Given the description of an element on the screen output the (x, y) to click on. 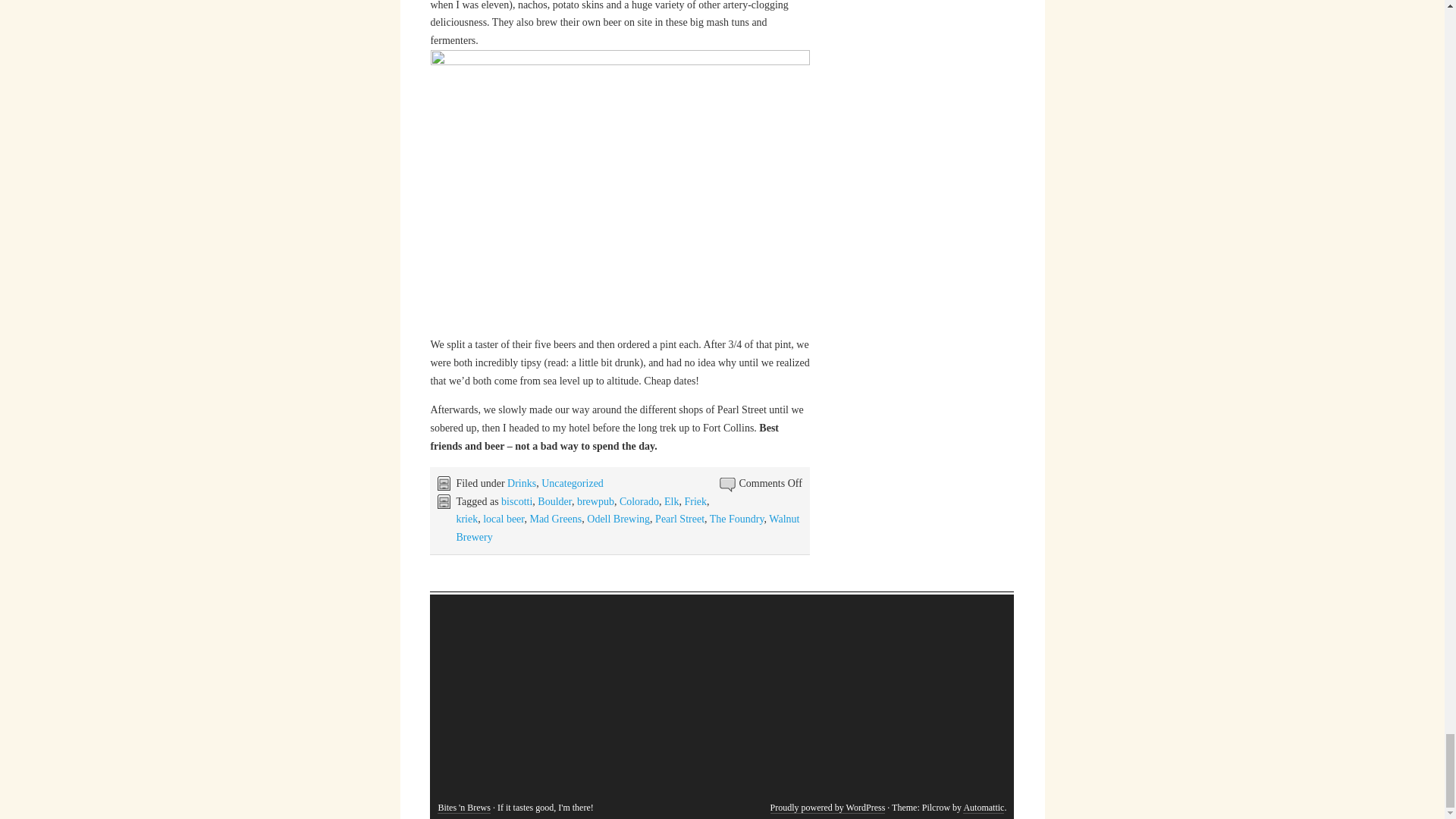
am6 (619, 191)
